Given the description of an element on the screen output the (x, y) to click on. 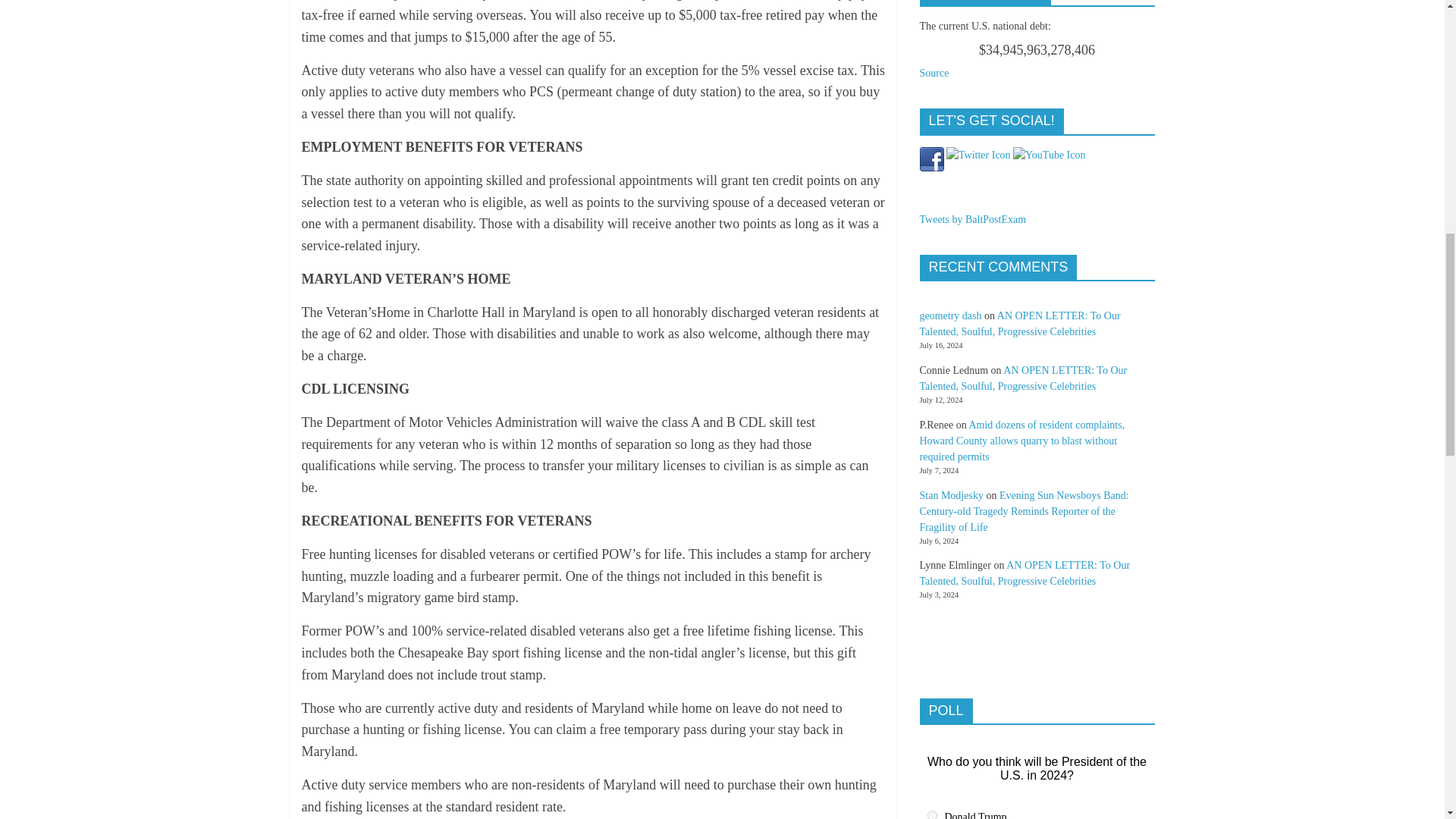
geometry dash (949, 315)
Source (933, 72)
Tweets by BaltPostExam (972, 219)
1 (931, 814)
